Given the description of an element on the screen output the (x, y) to click on. 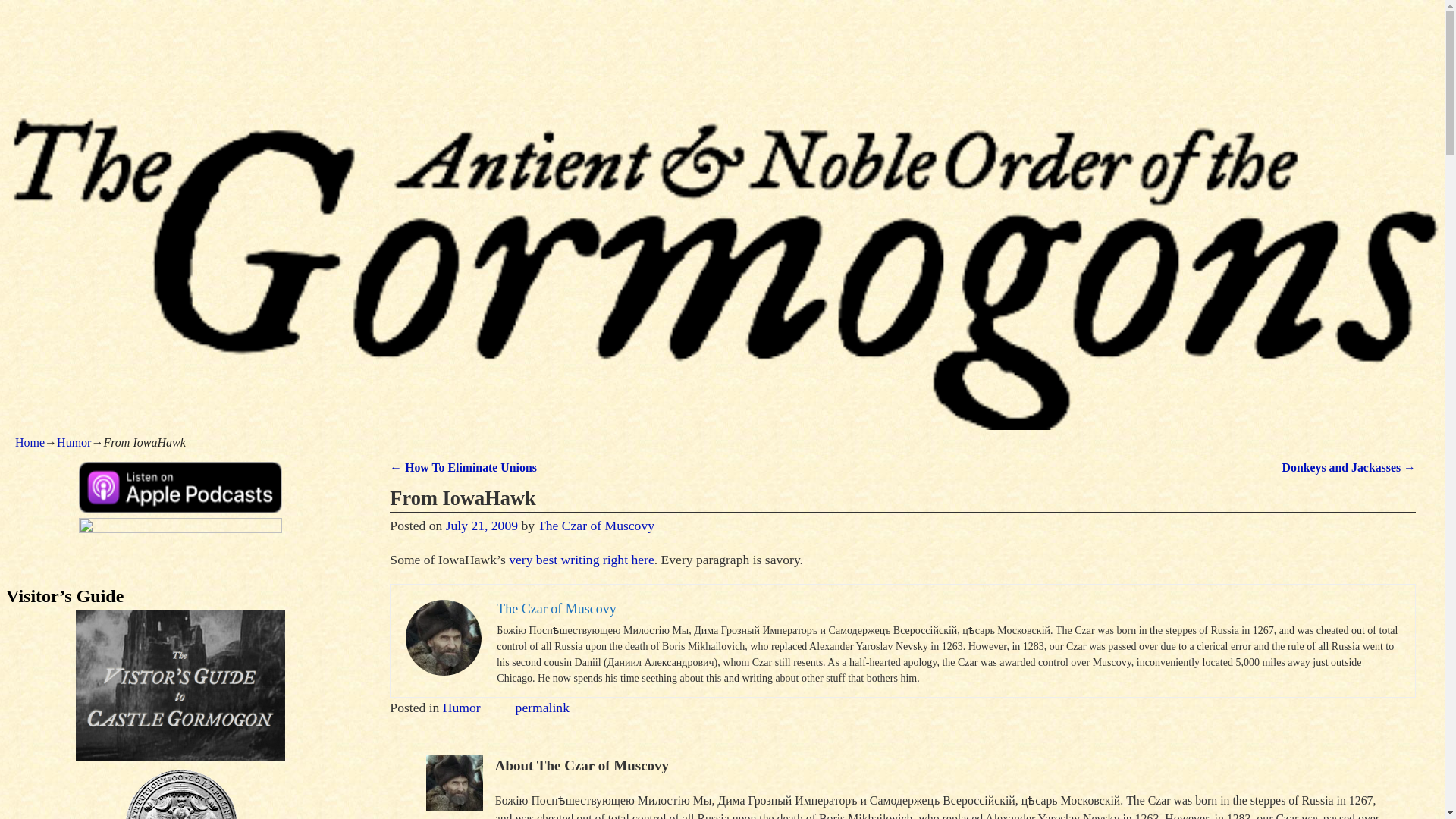
permalink (542, 707)
July 21, 2009 (481, 525)
View all posts by The Czar of Muscovy (595, 525)
very best writing right here (580, 559)
Home (29, 441)
Humor (73, 441)
Humor (461, 707)
The Czar of Muscovy (595, 525)
2:52 pm (481, 525)
The Czar of Muscovy (555, 608)
Permalink to From IowaHawk (542, 707)
